Given the description of an element on the screen output the (x, y) to click on. 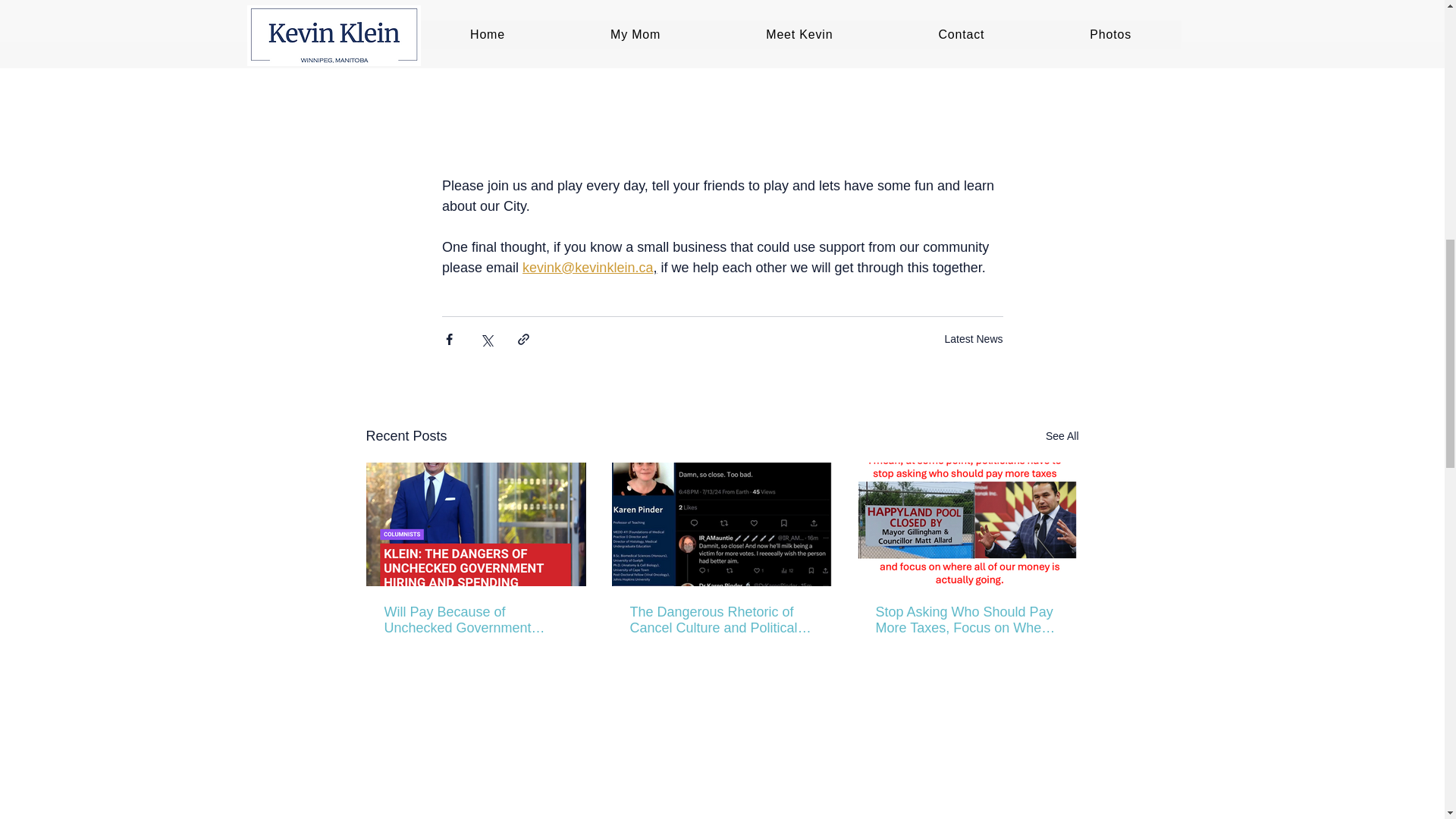
Latest News (973, 338)
See All (1061, 436)
